Given the description of an element on the screen output the (x, y) to click on. 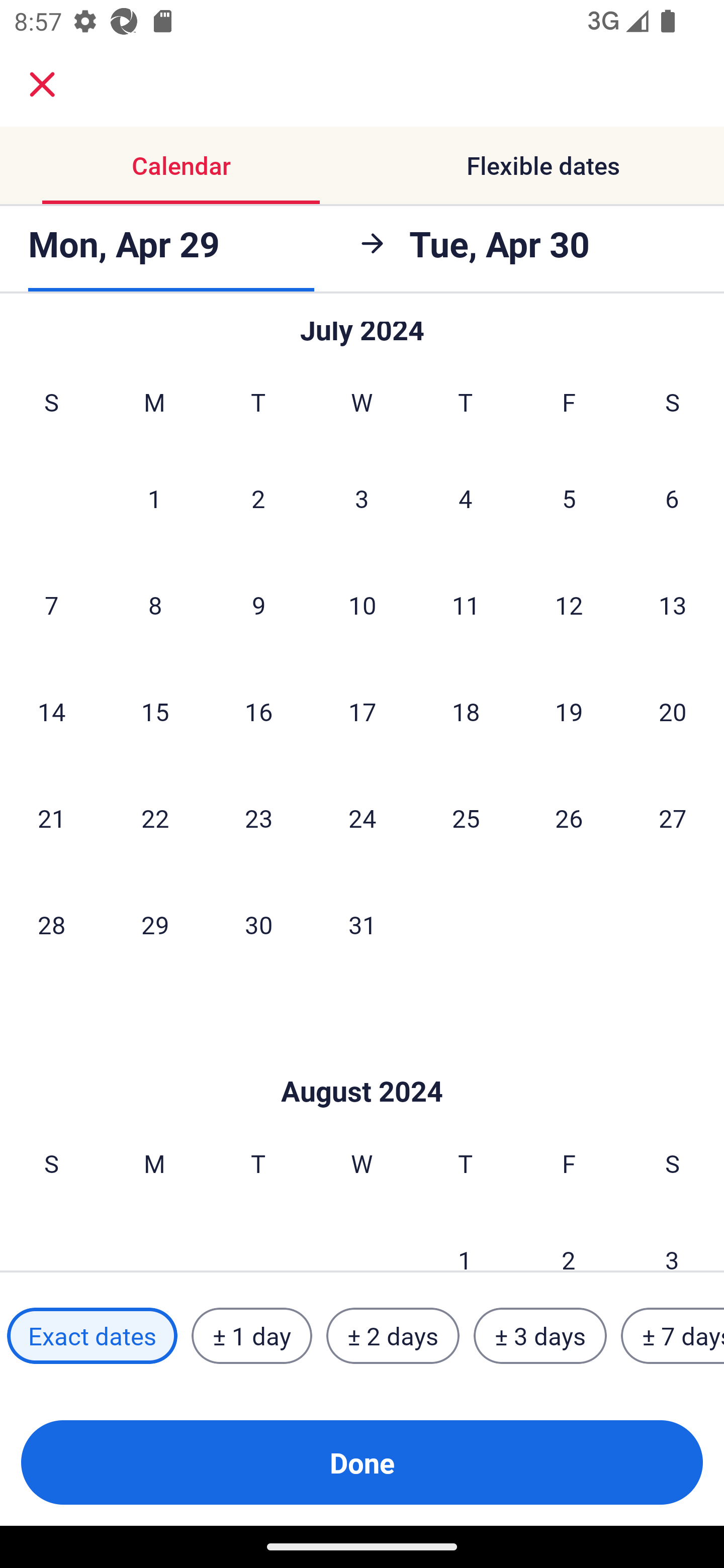
close. (42, 84)
Flexible dates (542, 164)
1 Monday, July 1, 2024 (154, 498)
2 Tuesday, July 2, 2024 (257, 498)
3 Wednesday, July 3, 2024 (361, 498)
4 Thursday, July 4, 2024 (465, 498)
5 Friday, July 5, 2024 (568, 498)
6 Saturday, July 6, 2024 (672, 498)
7 Sunday, July 7, 2024 (51, 604)
8 Monday, July 8, 2024 (155, 604)
9 Tuesday, July 9, 2024 (258, 604)
10 Wednesday, July 10, 2024 (362, 604)
11 Thursday, July 11, 2024 (465, 604)
12 Friday, July 12, 2024 (569, 604)
13 Saturday, July 13, 2024 (672, 604)
14 Sunday, July 14, 2024 (51, 711)
15 Monday, July 15, 2024 (155, 711)
16 Tuesday, July 16, 2024 (258, 711)
17 Wednesday, July 17, 2024 (362, 711)
18 Thursday, July 18, 2024 (465, 711)
19 Friday, July 19, 2024 (569, 711)
20 Saturday, July 20, 2024 (672, 711)
21 Sunday, July 21, 2024 (51, 817)
22 Monday, July 22, 2024 (155, 817)
23 Tuesday, July 23, 2024 (258, 817)
24 Wednesday, July 24, 2024 (362, 817)
25 Thursday, July 25, 2024 (465, 817)
26 Friday, July 26, 2024 (569, 817)
27 Saturday, July 27, 2024 (672, 817)
28 Sunday, July 28, 2024 (51, 924)
29 Monday, July 29, 2024 (155, 924)
30 Tuesday, July 30, 2024 (258, 924)
31 Wednesday, July 31, 2024 (362, 924)
Skip to Done (362, 1061)
1 Thursday, August 1, 2024 (464, 1239)
2 Friday, August 2, 2024 (568, 1239)
3 Saturday, August 3, 2024 (672, 1239)
Exact dates (92, 1335)
± 1 day (251, 1335)
± 2 days (392, 1335)
± 3 days (539, 1335)
± 7 days (672, 1335)
Done (361, 1462)
